Given the description of an element on the screen output the (x, y) to click on. 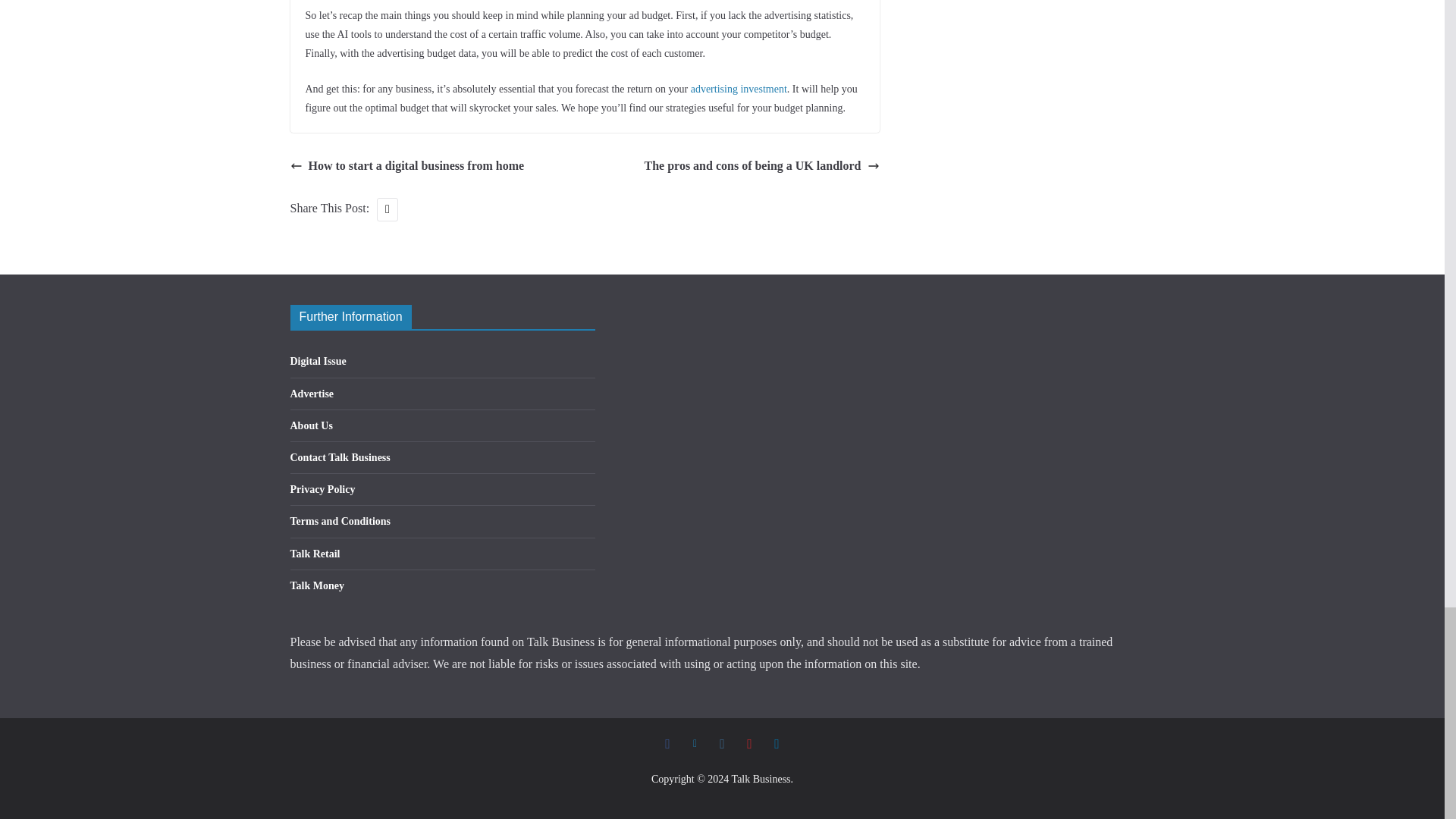
How to start a digital business from home (406, 166)
advertising investment (738, 88)
The pros and cons of being a UK landlord (762, 166)
